Given the description of an element on the screen output the (x, y) to click on. 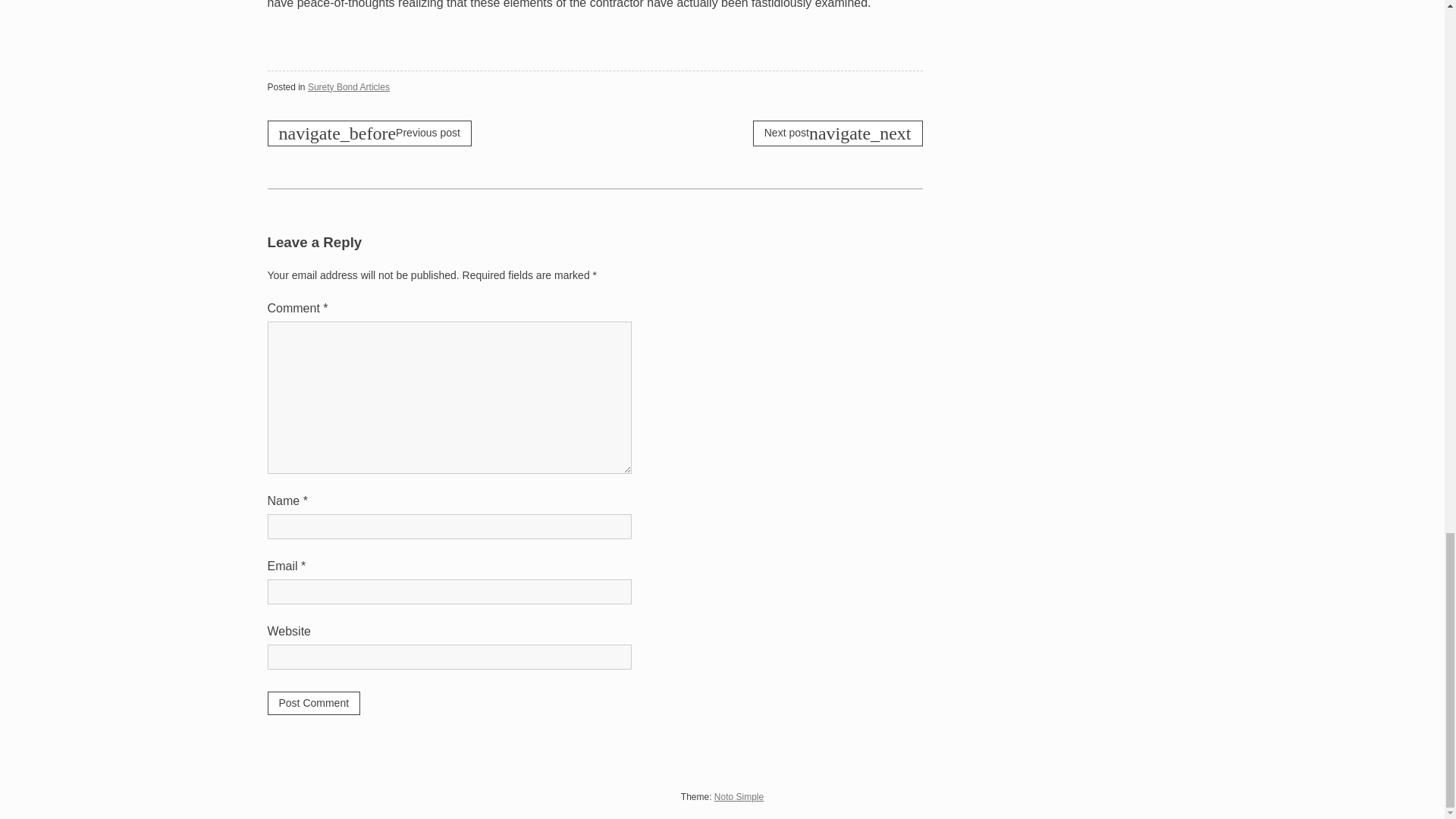
Post Comment (312, 702)
Post Comment (312, 702)
Surety Bond Articles (348, 86)
Noto Simple (738, 796)
